Given the description of an element on the screen output the (x, y) to click on. 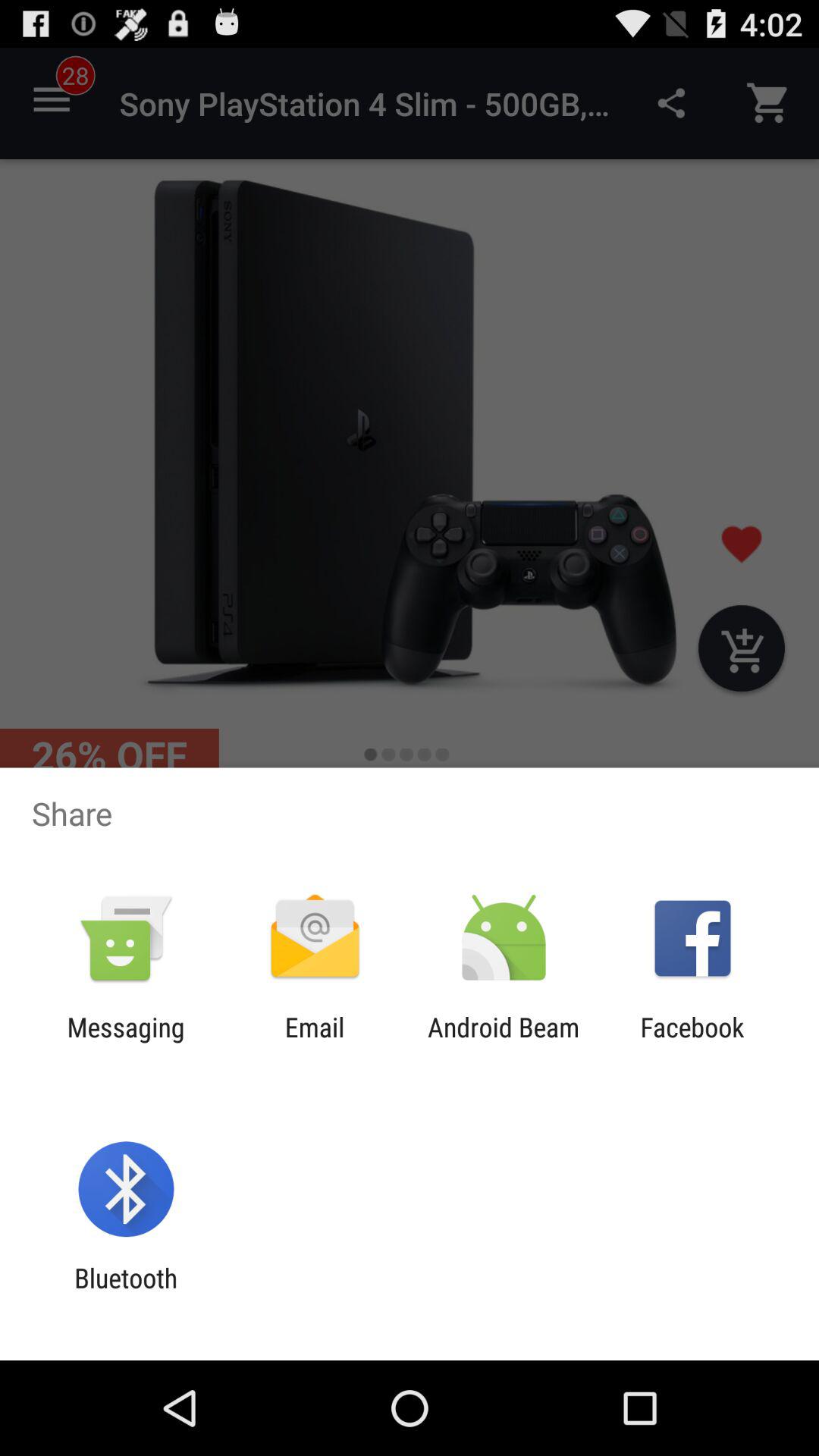
jump until facebook icon (692, 1042)
